Given the description of an element on the screen output the (x, y) to click on. 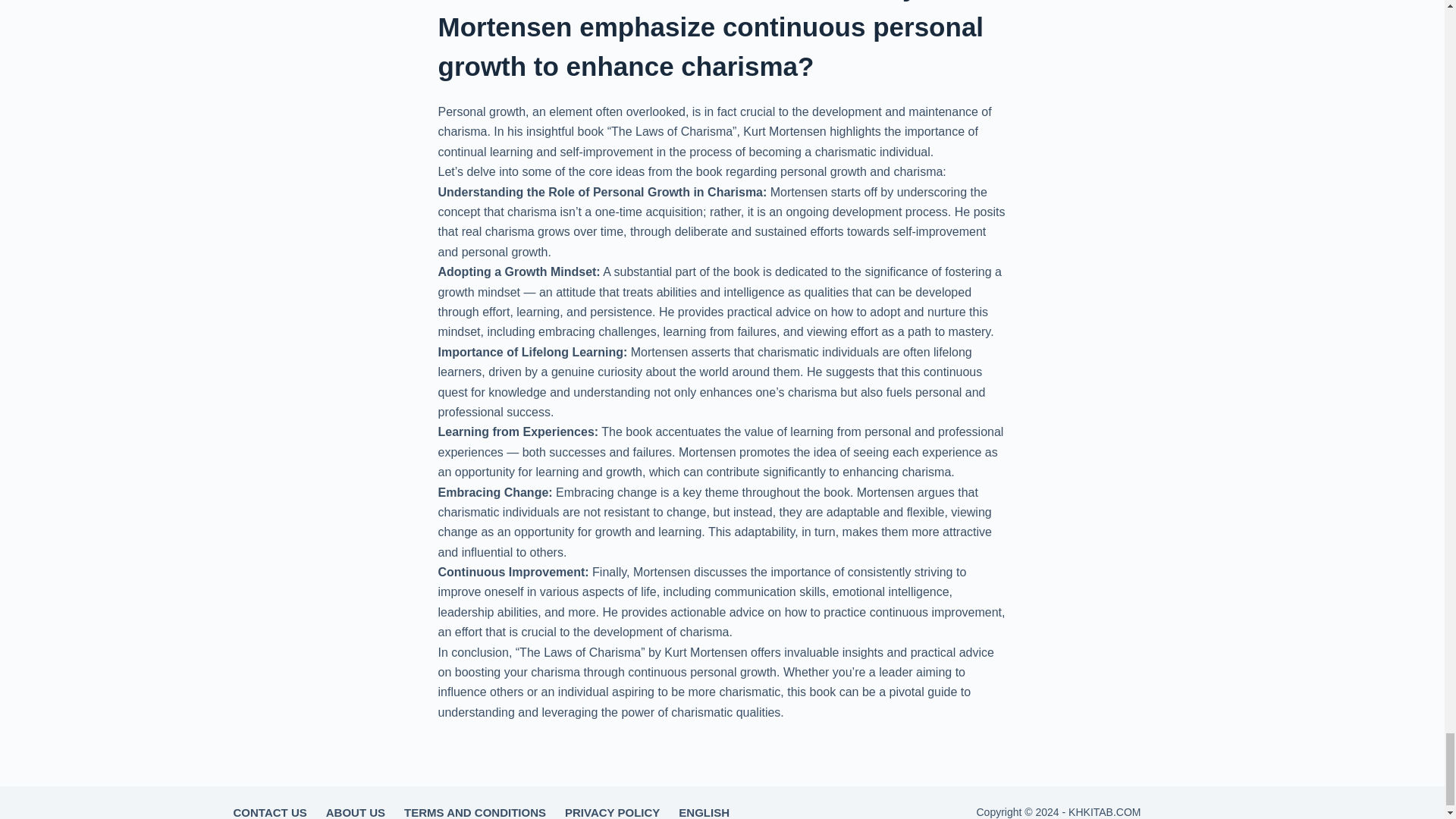
CONTACT US (269, 812)
ABOUT US (354, 812)
PRIVACY POLICY (612, 812)
ENGLISH (704, 812)
English (704, 812)
TERMS AND CONDITIONS (475, 812)
